Given the description of an element on the screen output the (x, y) to click on. 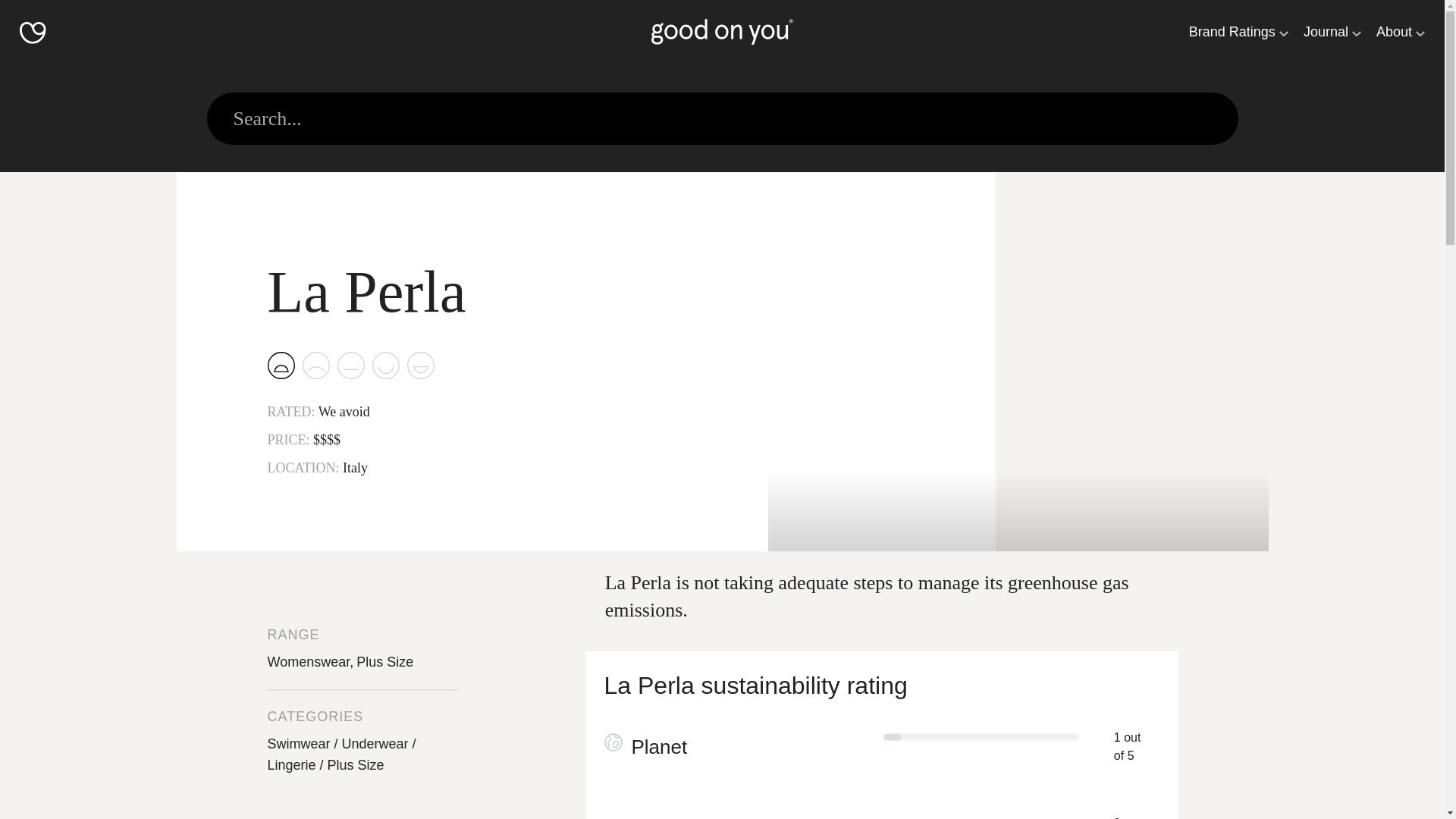
Brand Ratings (1232, 31)
Swimwear (303, 743)
Plus Size (355, 765)
About (1393, 31)
Lingerie (296, 765)
Underwear (379, 743)
Journal (1325, 31)
